Given the description of an element on the screen output the (x, y) to click on. 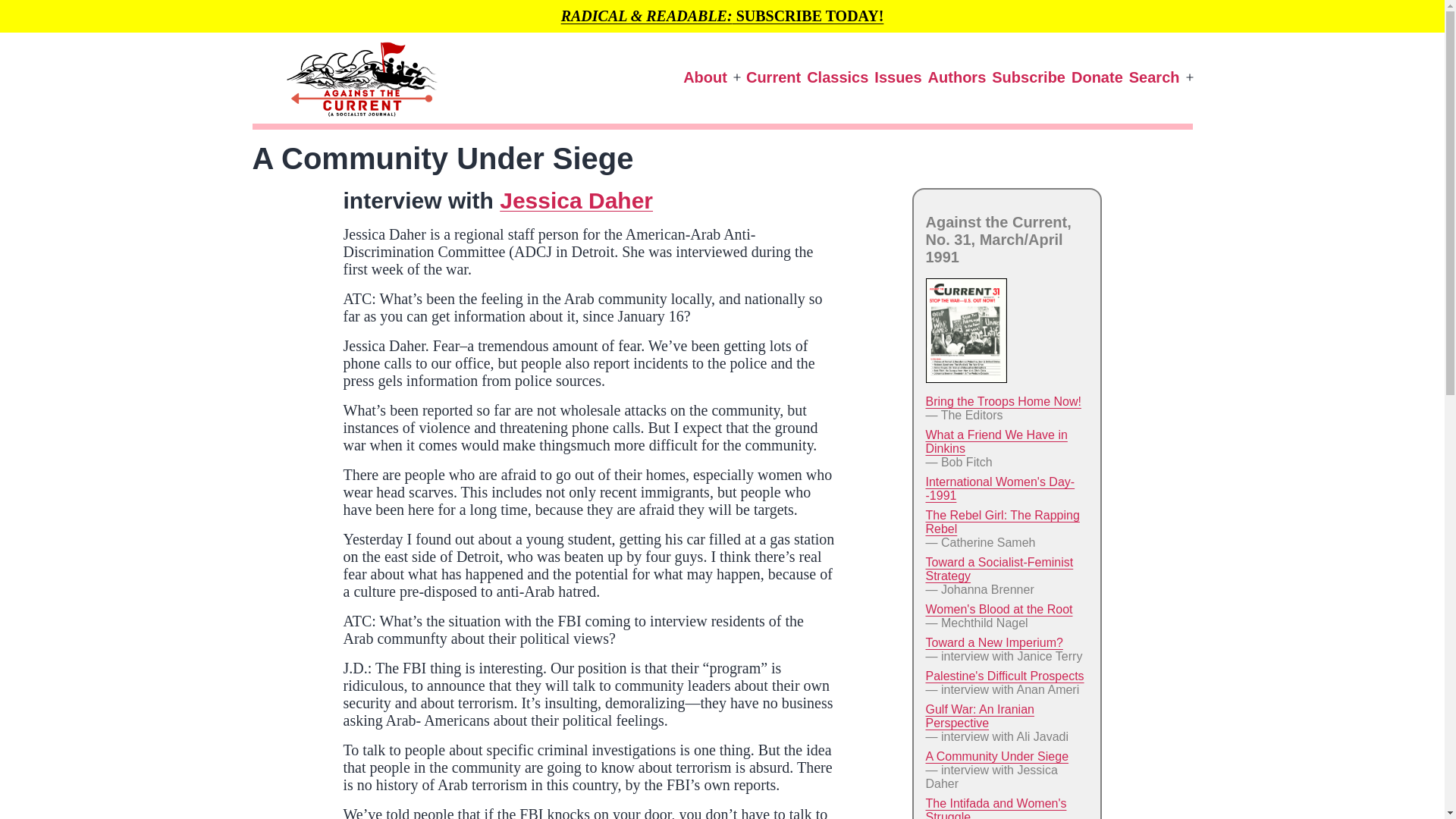
Against the Current (274, 148)
Women's Blood at the Root (997, 608)
A Community Under Siege (996, 756)
Search (1153, 78)
The Intifada and Women's Struggle (994, 807)
Bring the Troops Home Now! (1002, 400)
International Women's Day--1991 (999, 488)
Authors (957, 78)
Toward a New Imperium? (993, 642)
Subscribe (1028, 78)
